Given the description of an element on the screen output the (x, y) to click on. 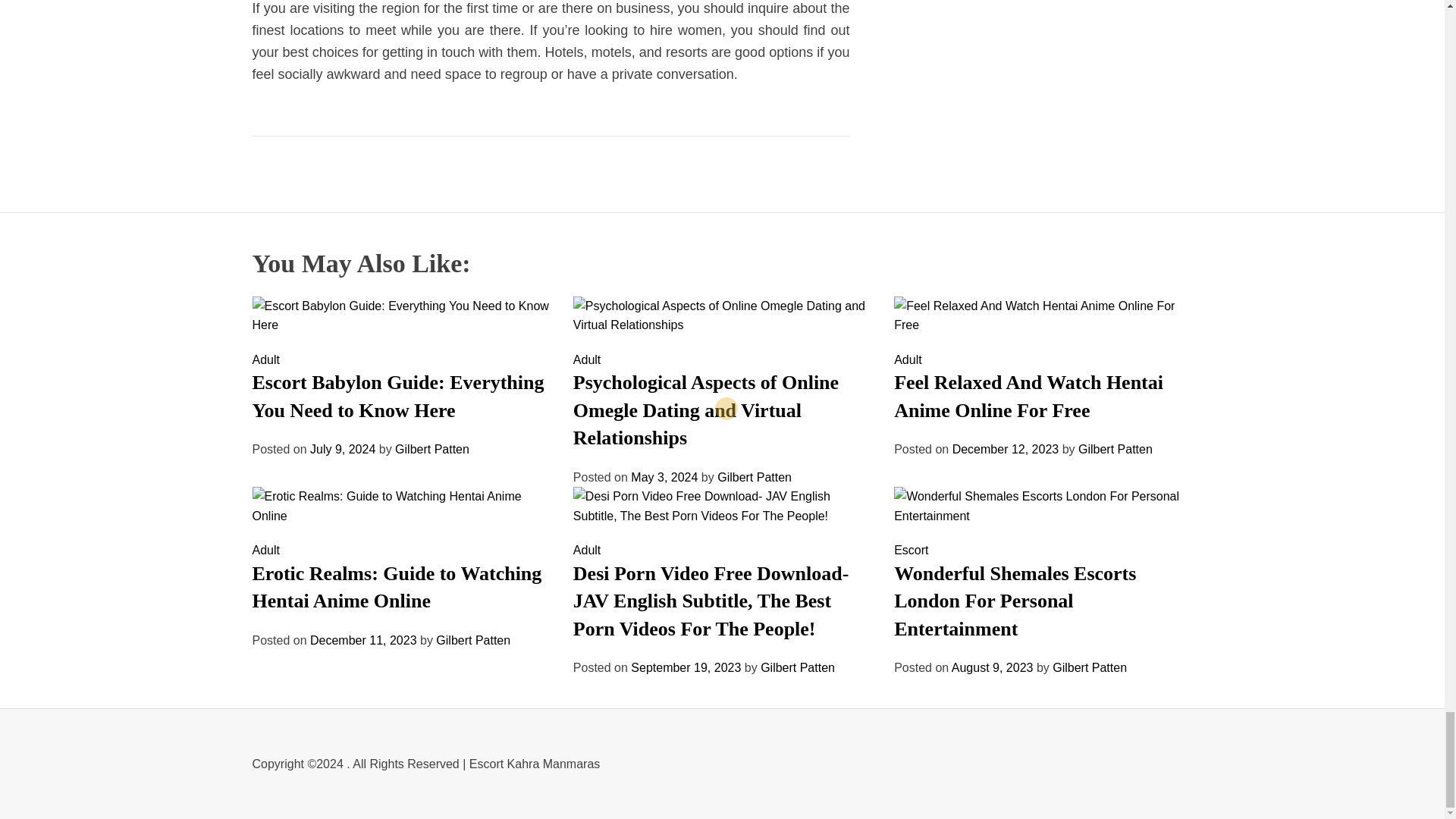
Adult (586, 359)
Escort Babylon Guide: Everything You Need to Know Here (397, 395)
Gilbert Patten (754, 477)
July 9, 2024 (342, 449)
Gilbert Patten (431, 449)
Adult (265, 359)
May 3, 2024 (663, 477)
